Given the description of an element on the screen output the (x, y) to click on. 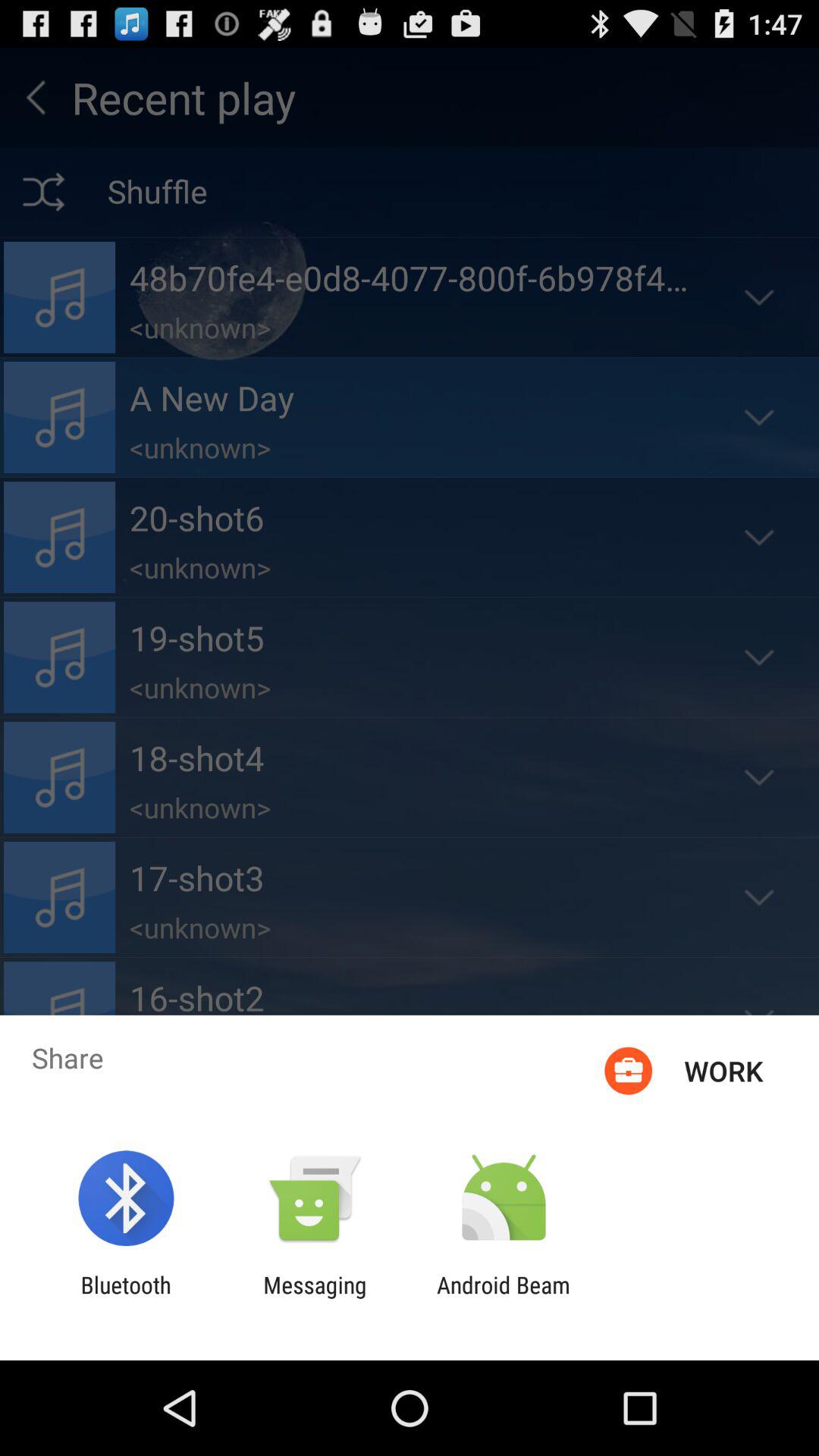
turn on android beam (503, 1298)
